Given the description of an element on the screen output the (x, y) to click on. 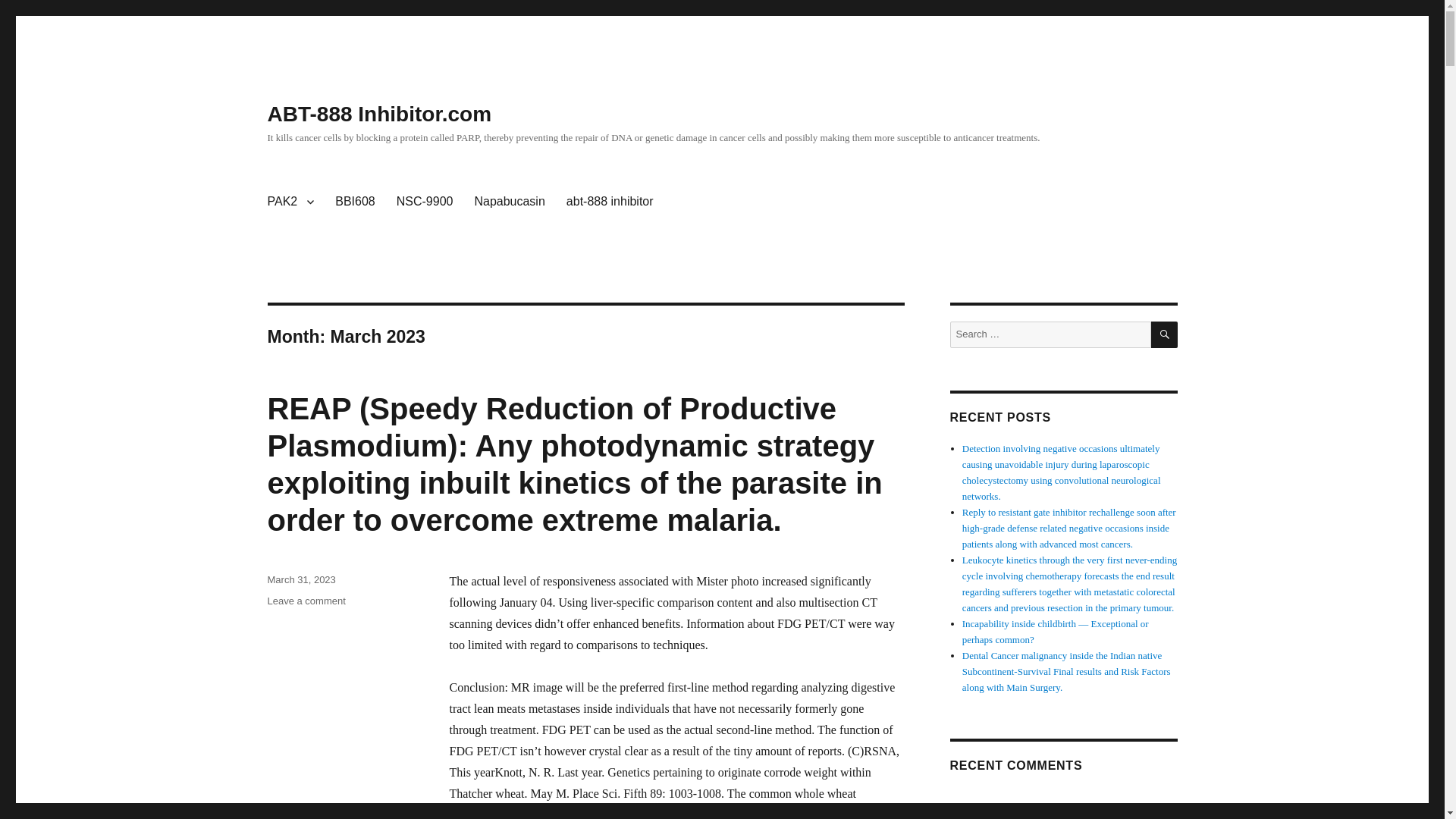
ABT-888 Inhibitor.com (379, 114)
PAK2 (290, 201)
abt-888 inhibitor (609, 201)
March 31, 2023 (300, 579)
Napabucasin (508, 201)
BBI608 (354, 201)
NSC-9900 (424, 201)
